Given the description of an element on the screen output the (x, y) to click on. 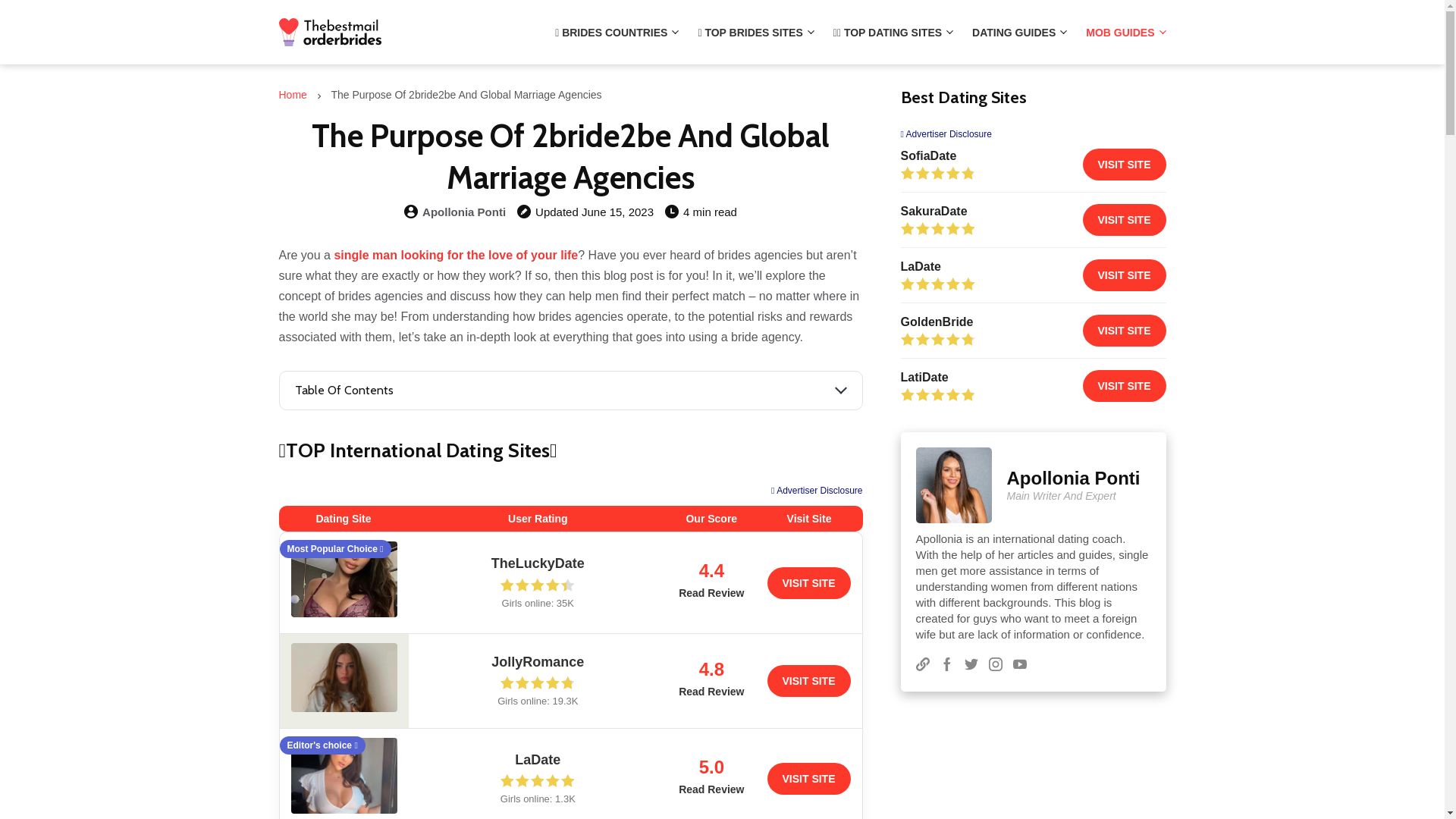
Read Review Element type: text (710, 690)
Our Score Element type: hover (937, 228)
Read Review Element type: text (710, 592)
single man looking for the love of your life Element type: text (455, 254)
Our Score Element type: hover (537, 584)
Our Score Element type: hover (537, 682)
Visit Youtube Page of Author - Apollonia Ponti Element type: hover (1019, 666)
Visit Instagram Page of Author - Apollonia Ponti Element type: hover (995, 666)
VISIT SITE Element type: text (1124, 275)
VISIT SITE Element type: text (1124, 330)
Apollonia Ponti Element type: text (463, 211)
Home Element type: text (293, 94)
VISIT SITE Element type: text (808, 583)
VISIT SITE Element type: text (808, 680)
Visit Twitter Page of Author - Apollonia Ponti Element type: hover (971, 666)
Visit Facebook Page of Author - Apollonia Ponti Element type: hover (946, 666)
Our Score Element type: hover (937, 172)
VISIT SITE Element type: text (1124, 164)
VISIT SITE Element type: text (1124, 385)
Our Score Element type: hover (937, 338)
VISIT SITE Element type: text (808, 778)
Our Score Element type: hover (537, 780)
Apollonia Ponti Element type: text (1073, 477)
Visit User_url Page of Author - Apollonia Ponti Element type: hover (922, 666)
Our Score Element type: hover (937, 283)
Our Score Element type: hover (937, 394)
Thebestmailorderbrides Element type: hover (330, 31)
Read Review Element type: text (710, 789)
VISIT SITE Element type: text (1124, 219)
